Given the description of an element on the screen output the (x, y) to click on. 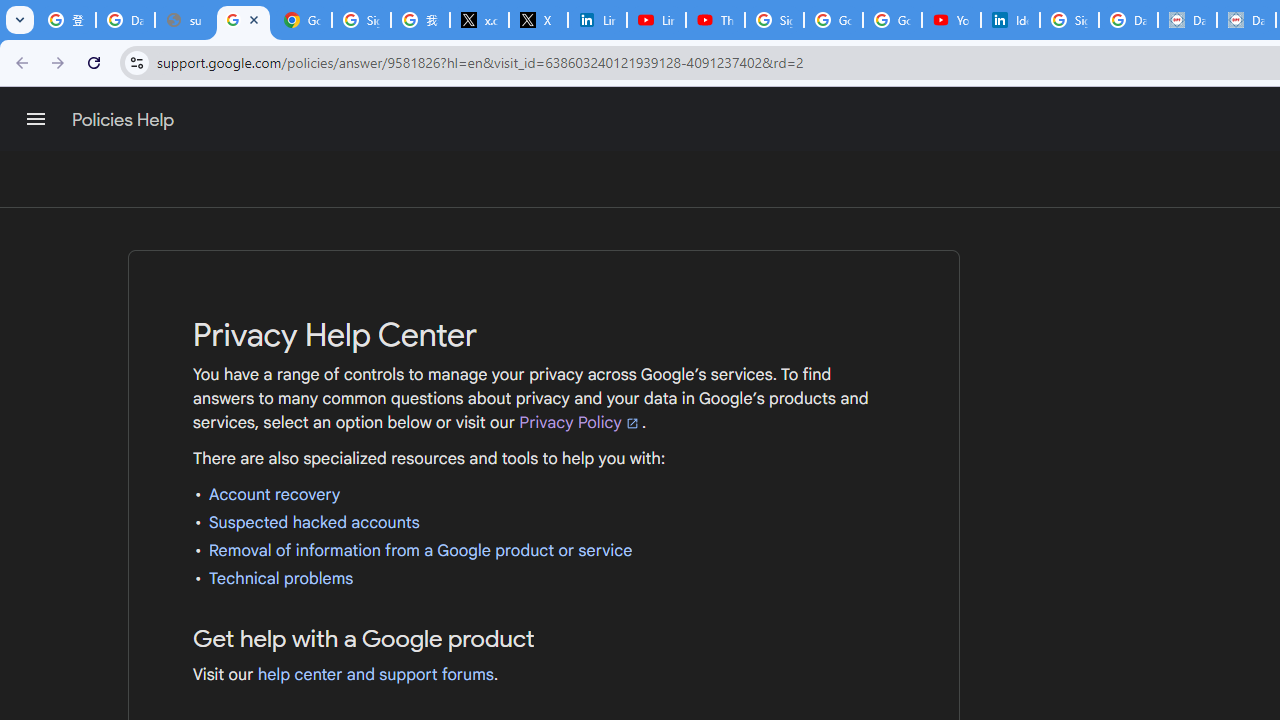
Data Privacy Framework (1187, 20)
Removal of information from a Google product or service (420, 550)
Account recovery (274, 494)
LinkedIn Privacy Policy (597, 20)
LinkedIn - YouTube (656, 20)
